Given the description of an element on the screen output the (x, y) to click on. 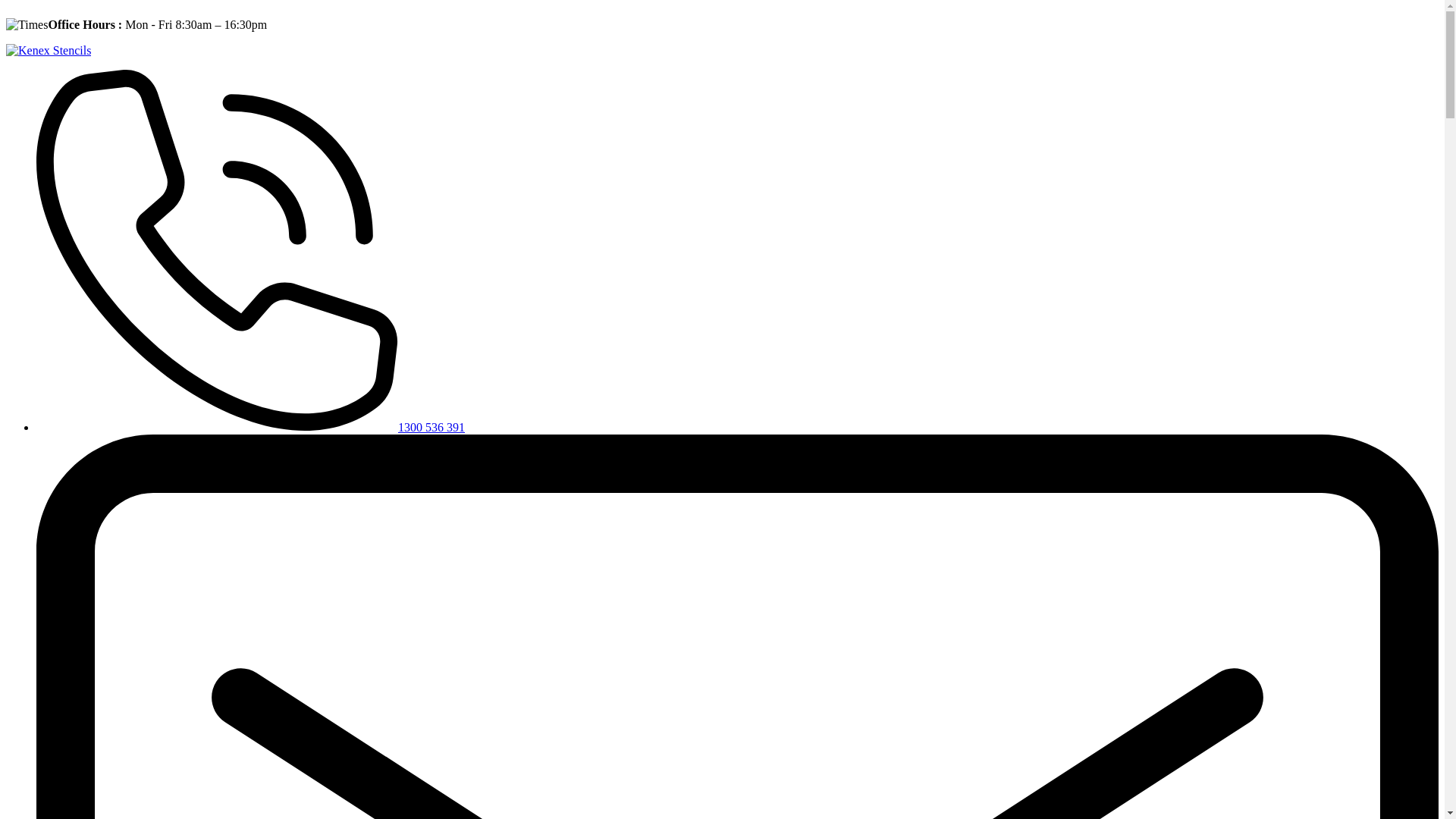
1300 536 391 Element type: text (250, 426)
Phone Element type: hover (217, 250)
Times Element type: hover (26, 24)
